Given the description of an element on the screen output the (x, y) to click on. 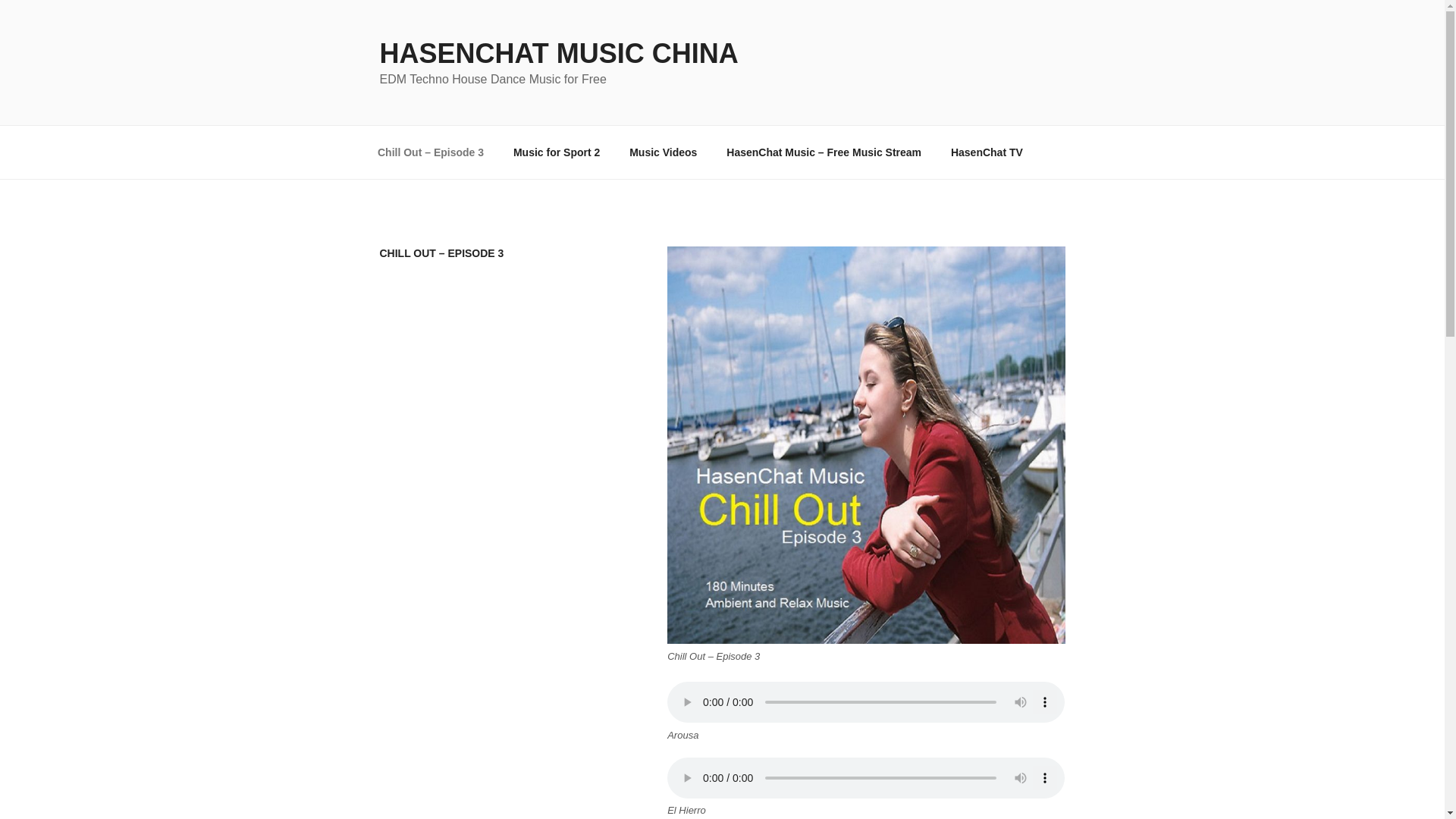
Music for Sport 2 (555, 151)
HASENCHAT MUSIC CHINA (558, 52)
HasenChat TV (986, 151)
Music Videos (662, 151)
